Given the description of an element on the screen output the (x, y) to click on. 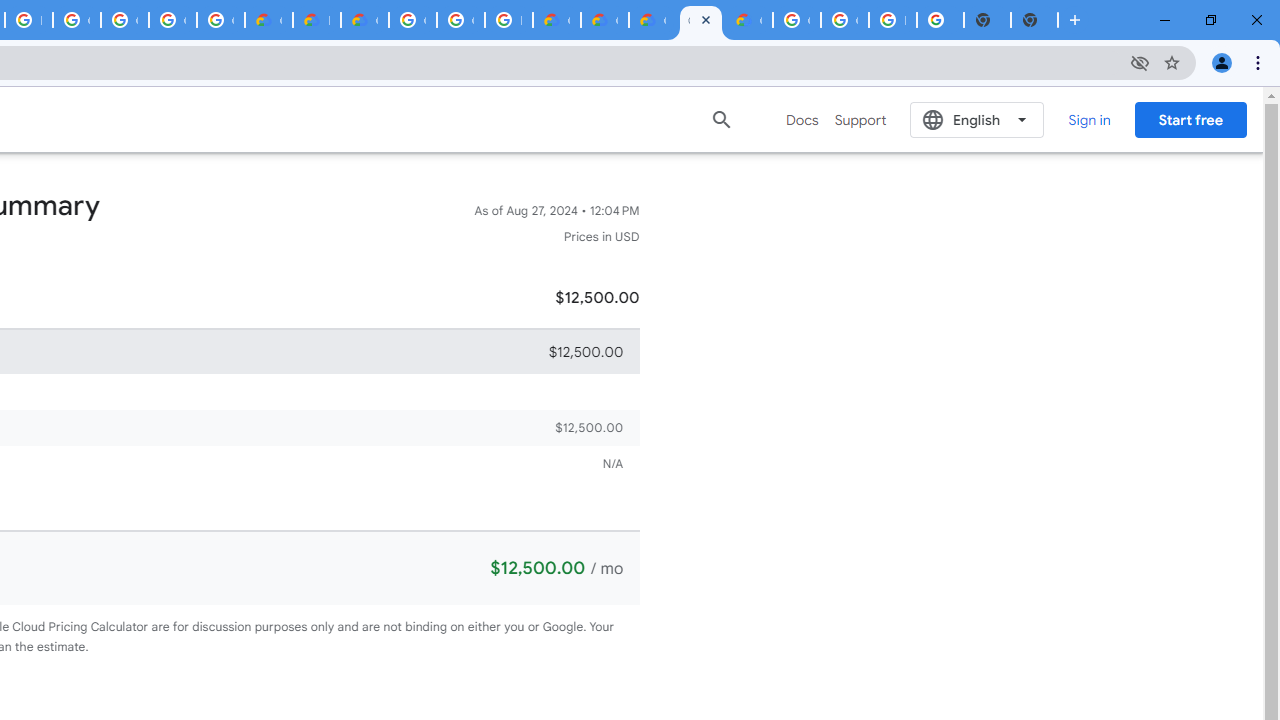
Google Cloud Platform (796, 20)
